Given the description of an element on the screen output the (x, y) to click on. 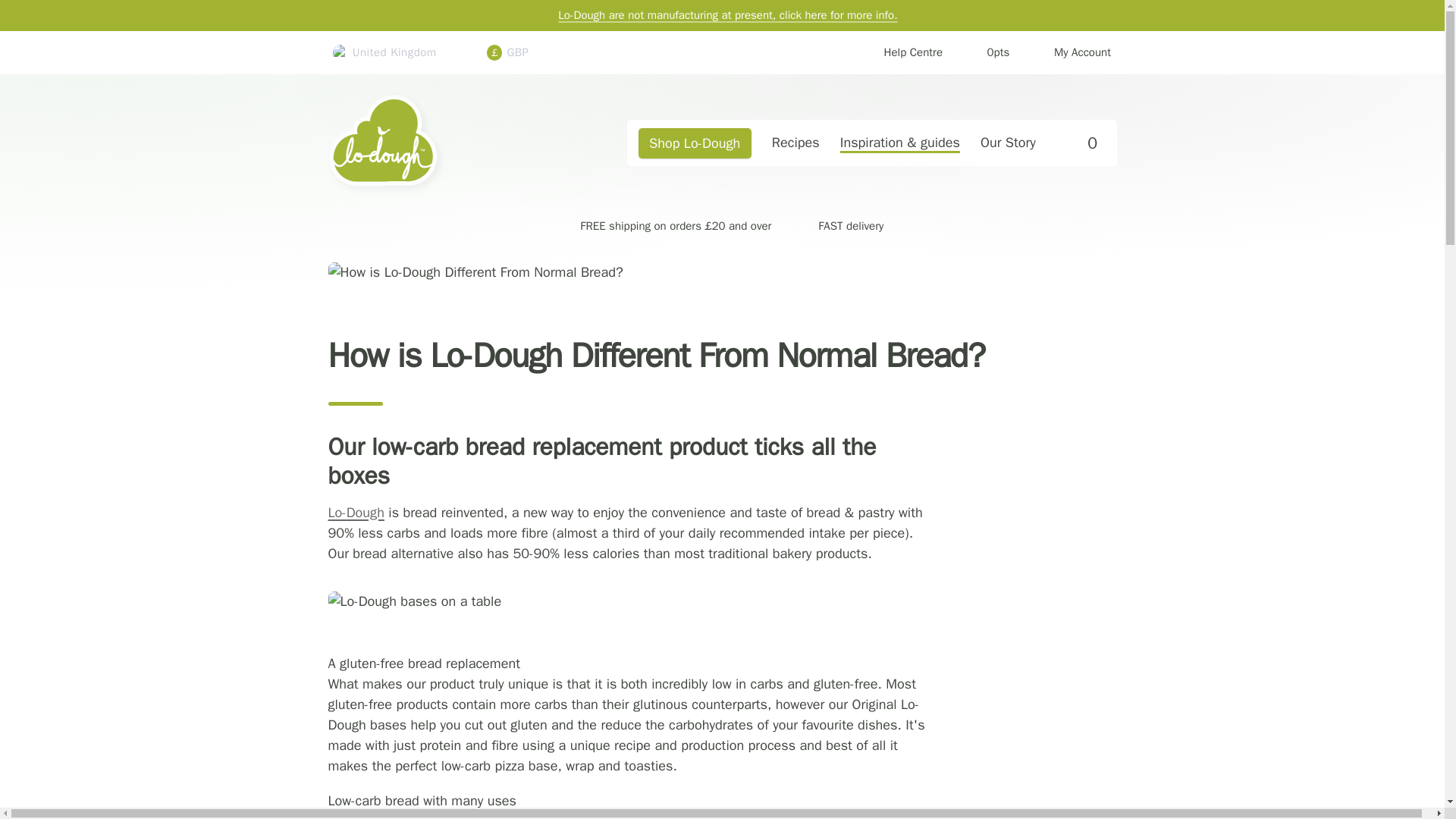
0pts (986, 53)
Recipes (795, 142)
Help Centre (1078, 143)
Submit (902, 53)
Submit (440, 143)
Lo-Dough (355, 512)
My Account (440, 143)
low-carb bread (1071, 53)
Our Story (355, 512)
Shop Lo-Dough (1007, 142)
